Given the description of an element on the screen output the (x, y) to click on. 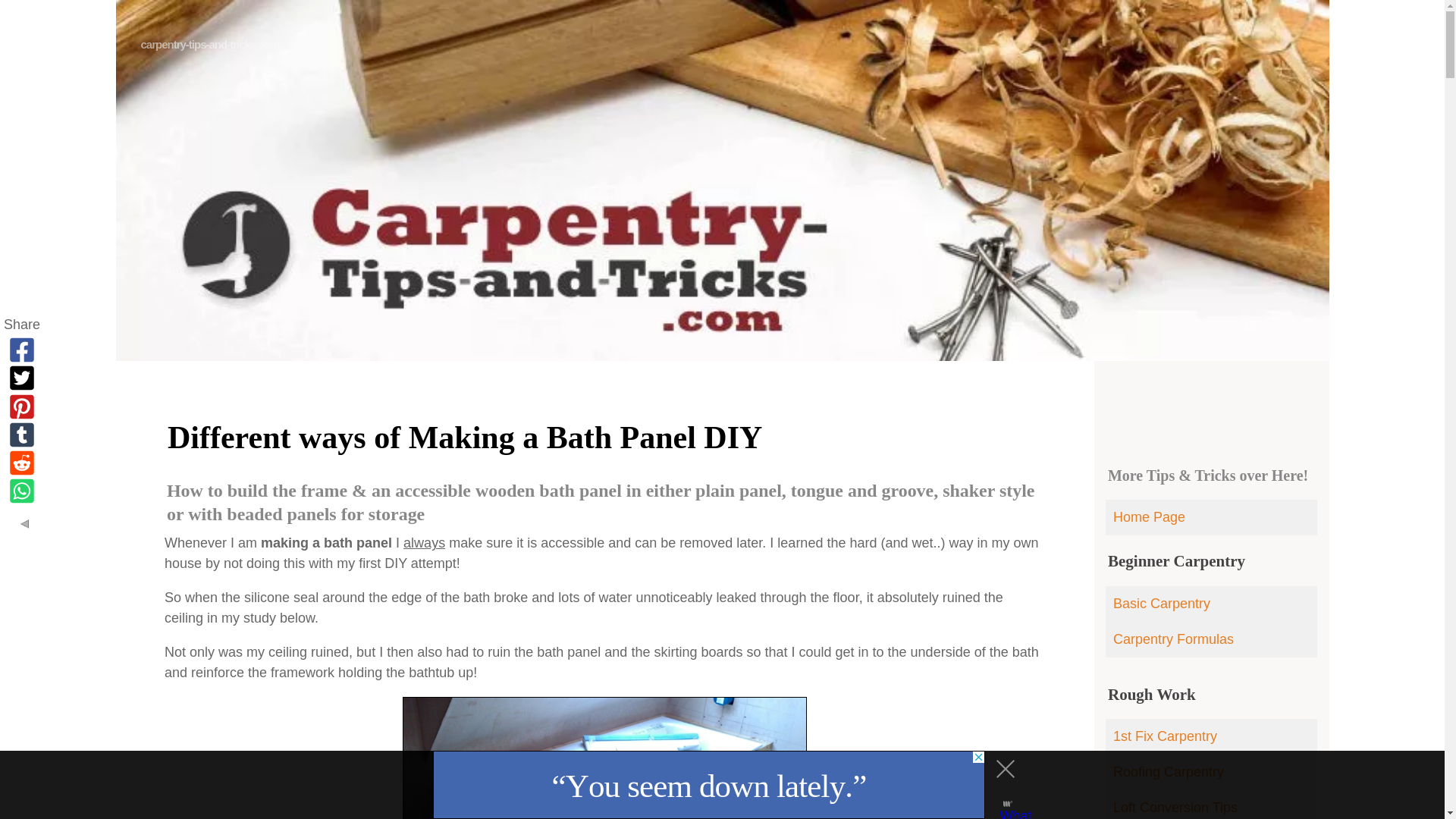
1st Fix Carpentry (1211, 736)
Home Page (1211, 517)
Carpentry Formulas (1211, 639)
carpentry-tips-and-tricks.com (210, 43)
Loft Conversion Tips (1211, 804)
Roofing Carpentry (1211, 772)
3rd party ad content (708, 785)
Basic Carpentry (1211, 603)
